Given the description of an element on the screen output the (x, y) to click on. 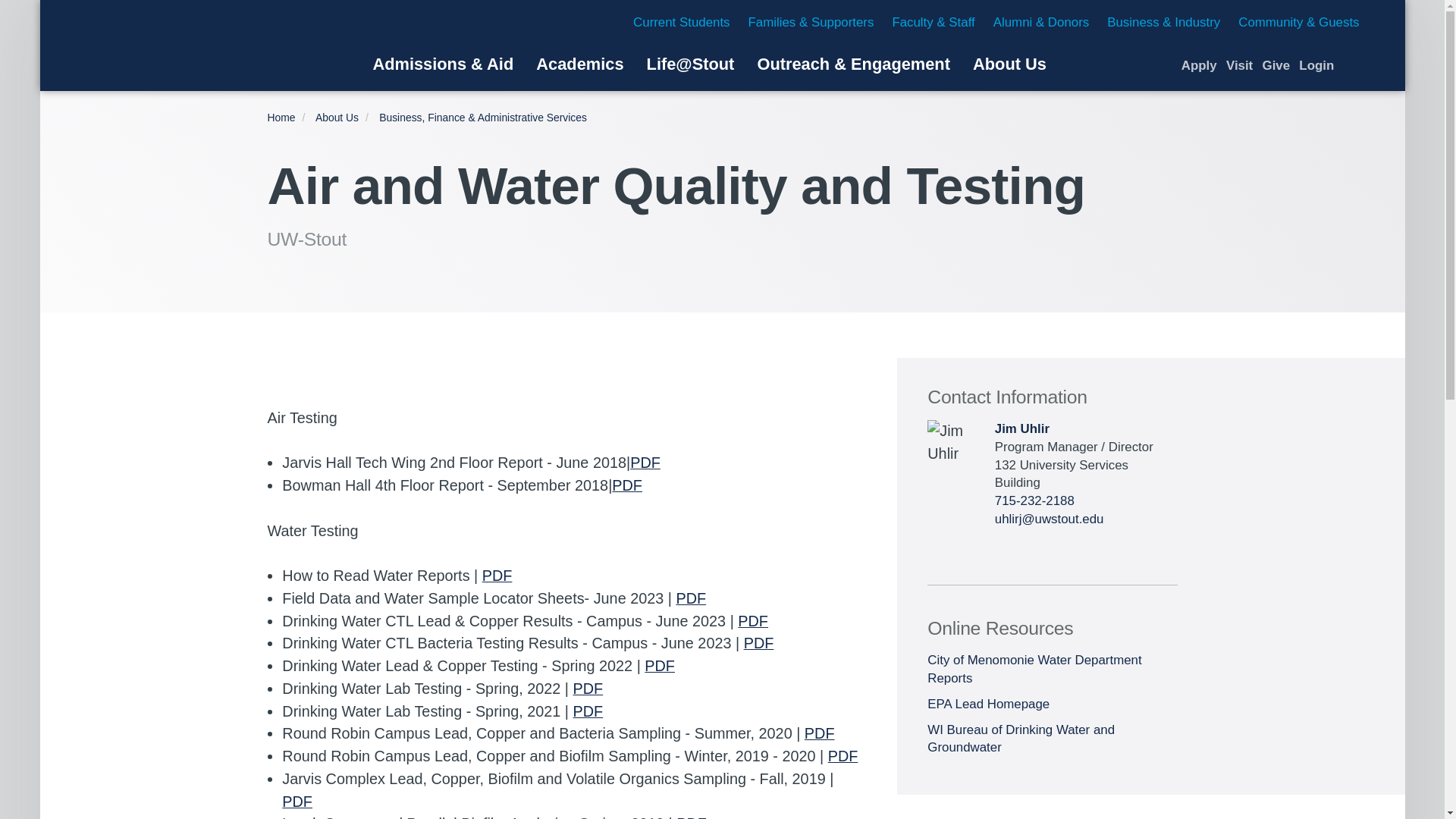
Current Students (681, 22)
Common Logins for UW-Stout (1315, 65)
University of Wisconsin-Stout (167, 45)
Academics (579, 63)
University of Wisconsin-Stout (167, 45)
About Us (1009, 63)
